Given the description of an element on the screen output the (x, y) to click on. 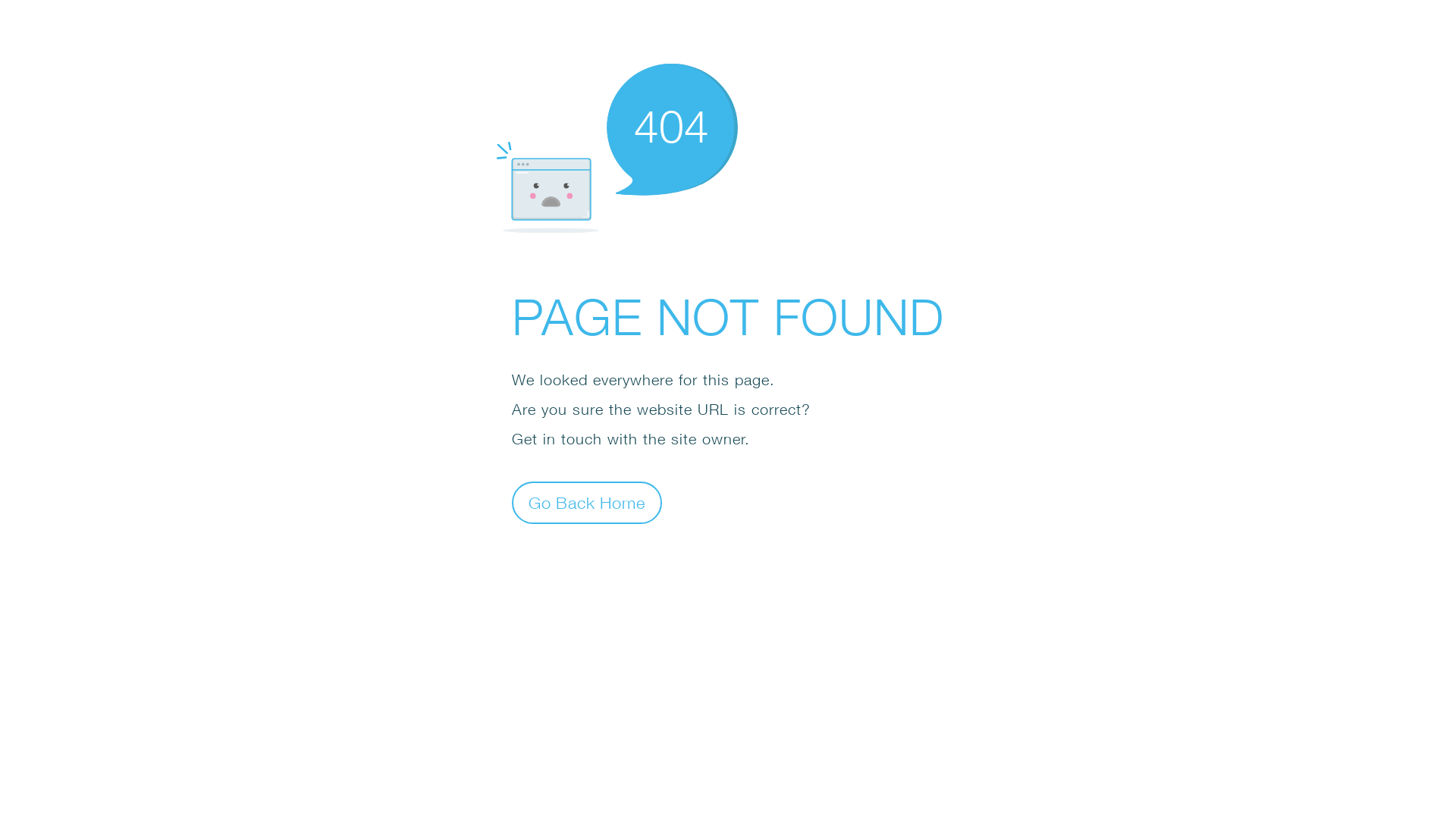
Go Back Home Element type: text (586, 502)
